Given the description of an element on the screen output the (x, y) to click on. 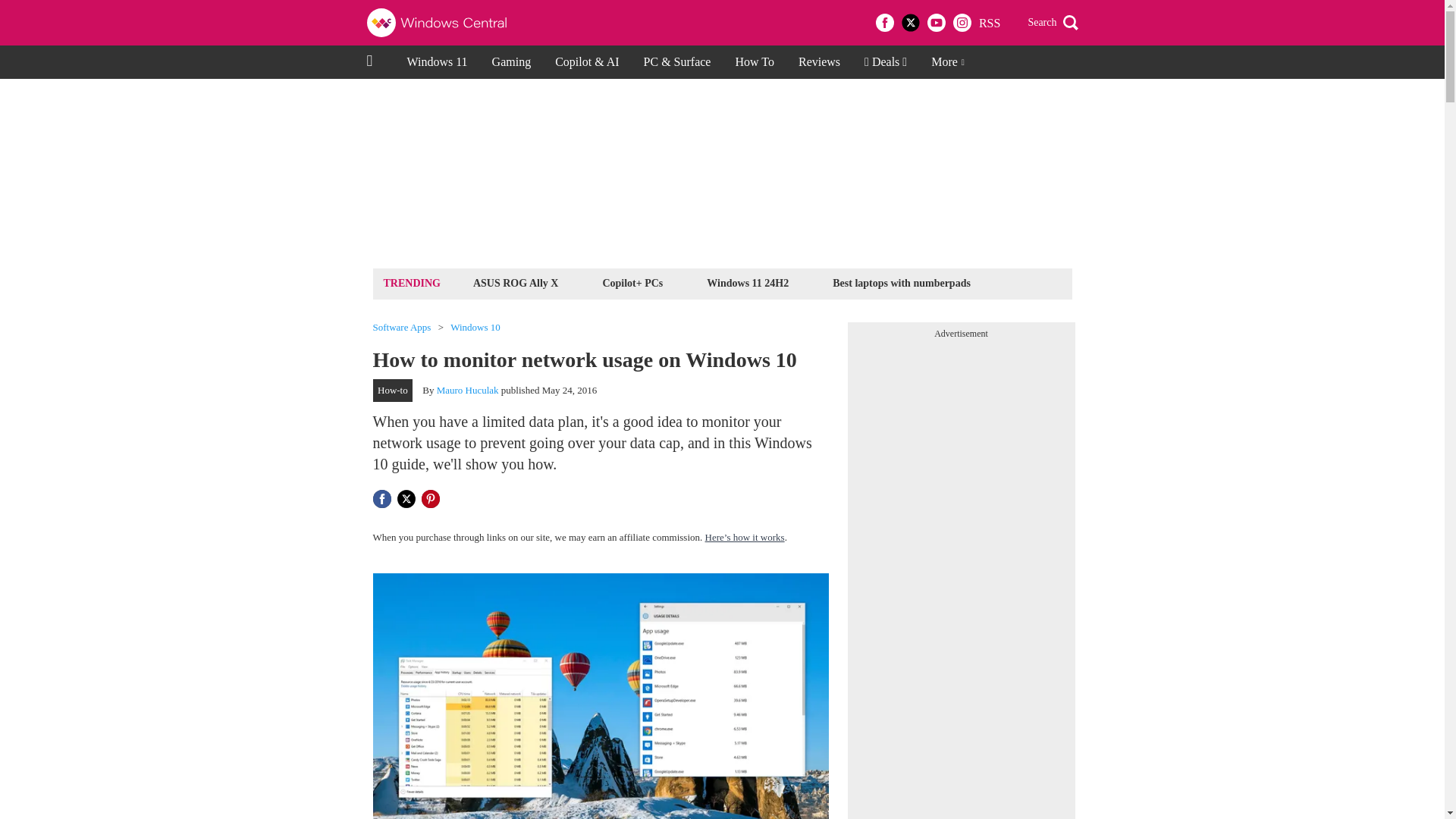
Windows 11 (436, 61)
Mauro Huculak (467, 389)
ASUS ROG Ally X (515, 282)
Gaming (511, 61)
Best laptops with numberpads (901, 282)
Software Apps (401, 327)
Windows 11 24H2 (747, 282)
How To (754, 61)
How-to (392, 390)
Reviews (818, 61)
